Given the description of an element on the screen output the (x, y) to click on. 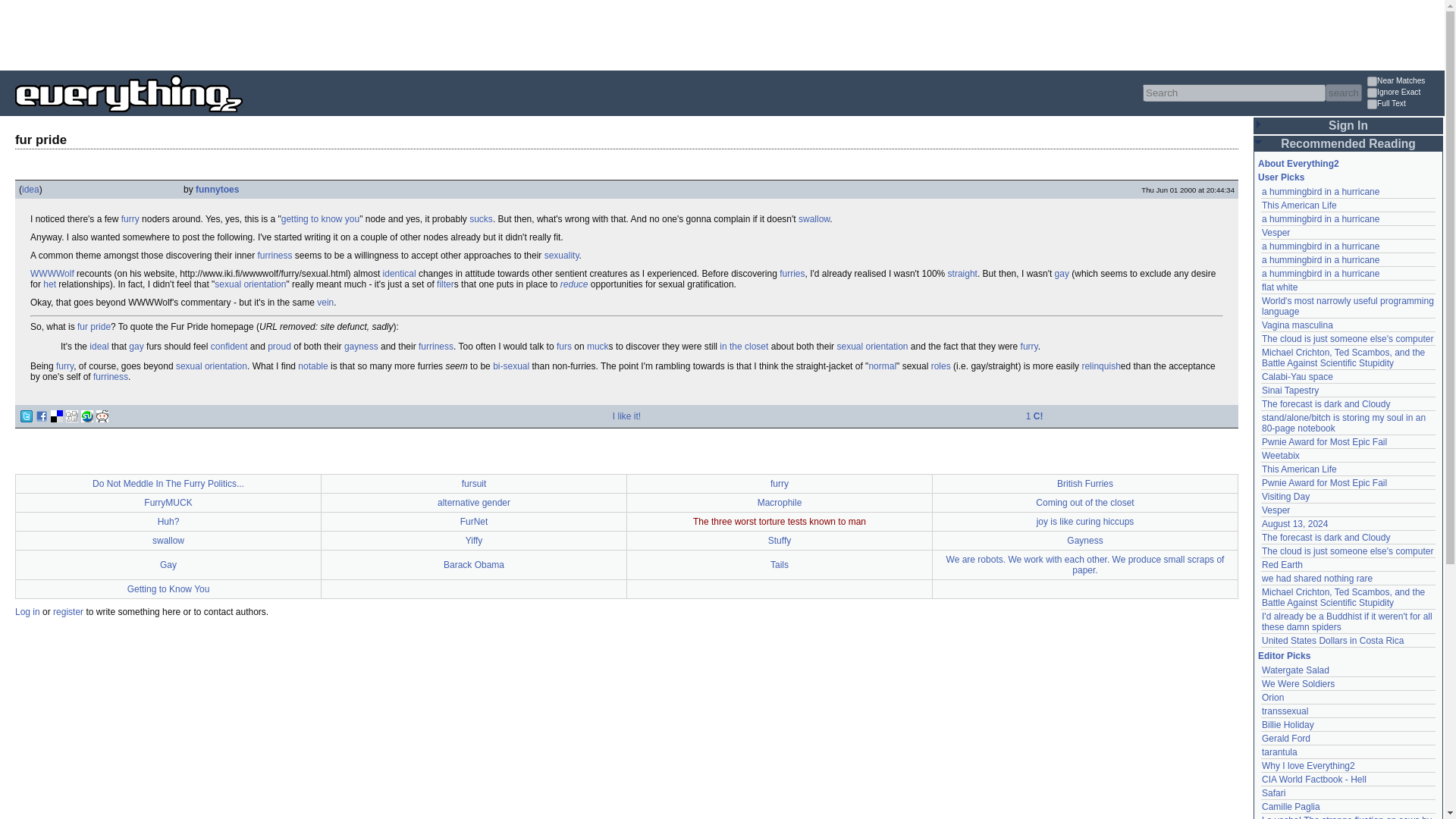
confident (229, 346)
swallow (813, 218)
het (49, 284)
Search within Everything2 (1342, 92)
straight (961, 273)
furry (274, 255)
sexuality (561, 255)
sucks (480, 218)
search (1342, 92)
furry (1029, 346)
